Given the description of an element on the screen output the (x, y) to click on. 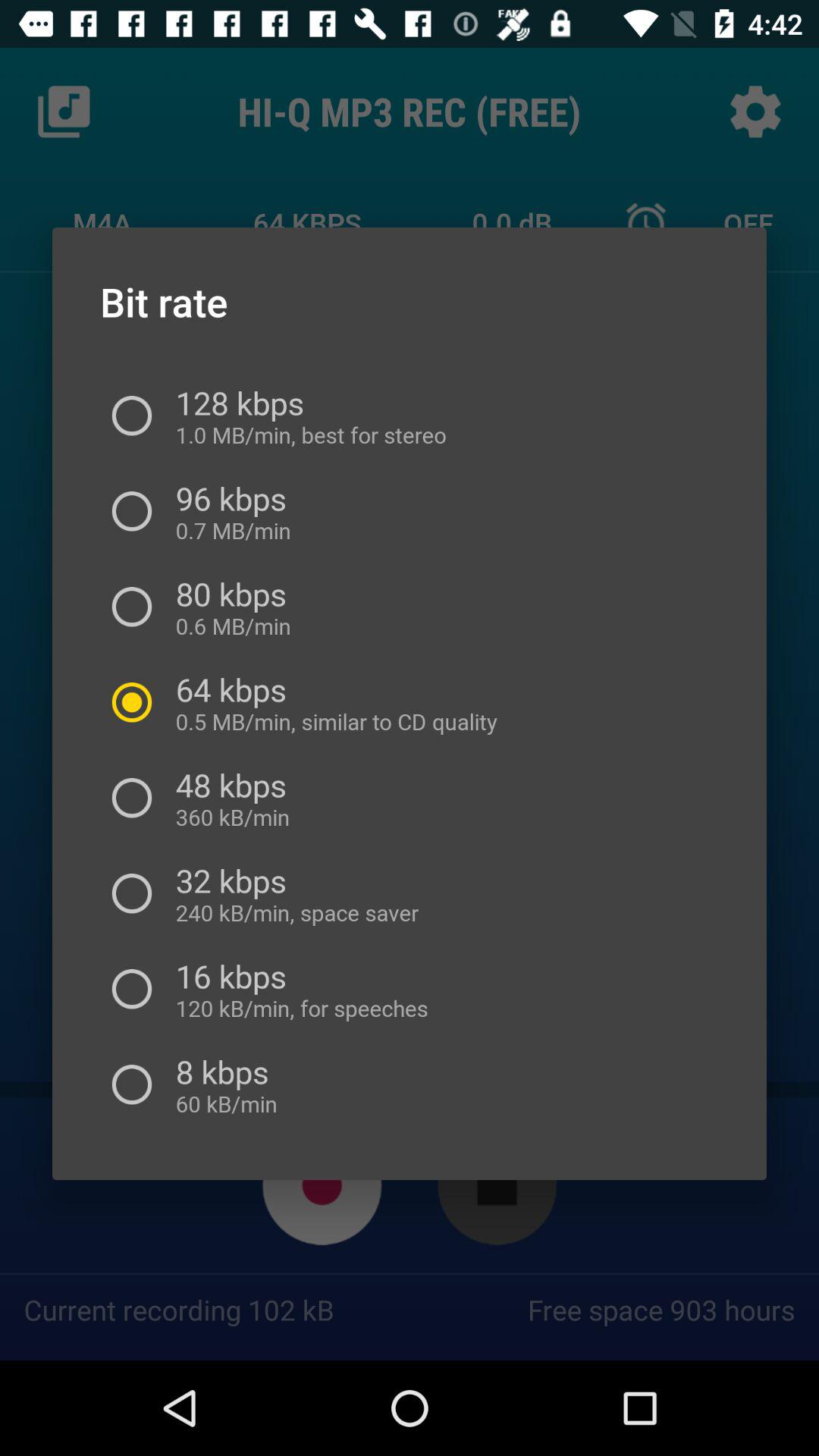
choose item below bit rate (304, 415)
